Given the description of an element on the screen output the (x, y) to click on. 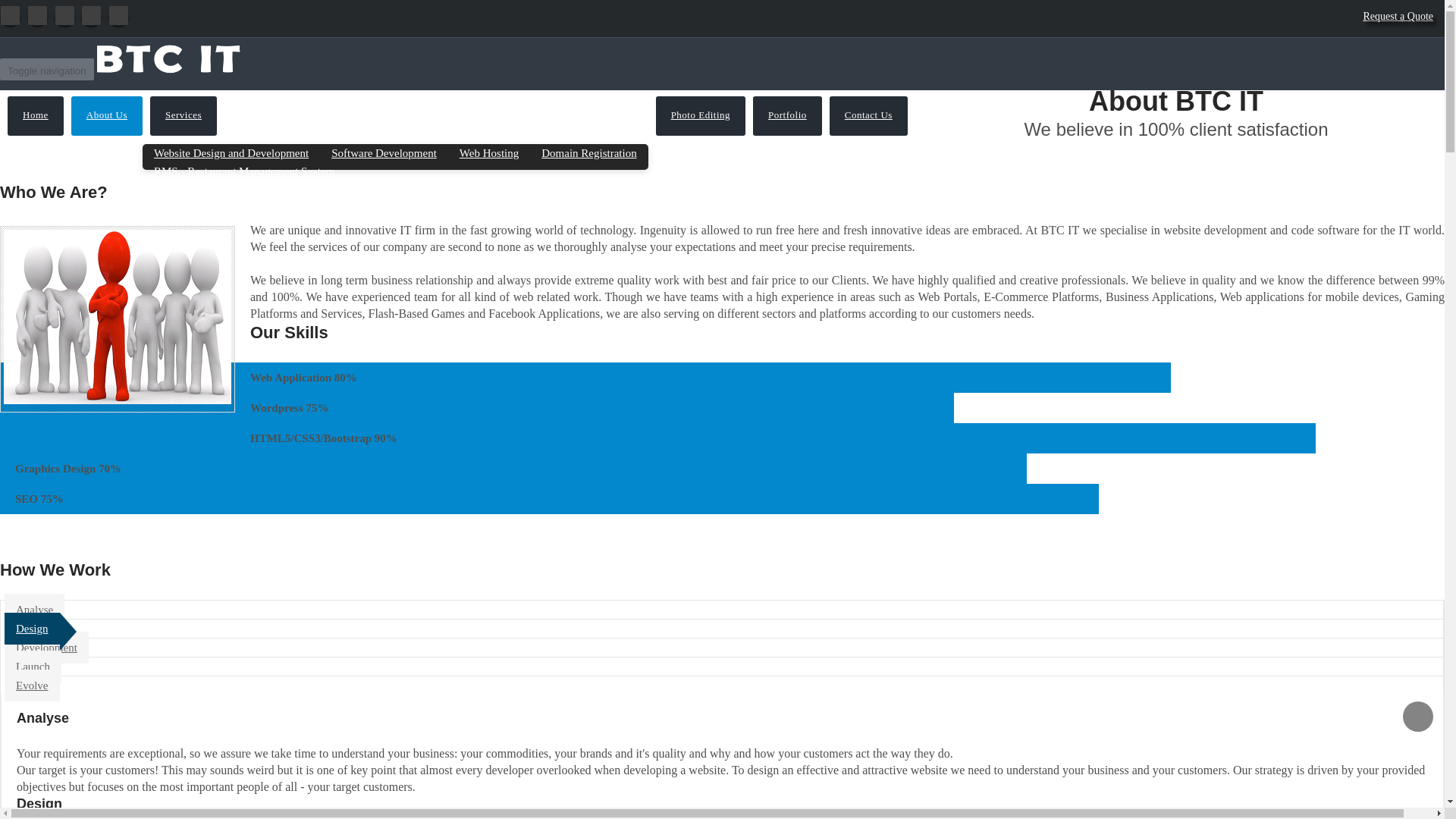
Software Development (384, 152)
Launch (32, 666)
Home (35, 115)
Request a Quote (1397, 16)
Toggle navigation (47, 69)
Evolve (31, 685)
Analyse (34, 609)
Services (182, 115)
Domain Registration (588, 152)
Development (46, 647)
RMS - Restaurant Management System (244, 170)
Design (31, 628)
About Us (106, 115)
Portfolio (787, 115)
Photo Editing (700, 115)
